Given the description of an element on the screen output the (x, y) to click on. 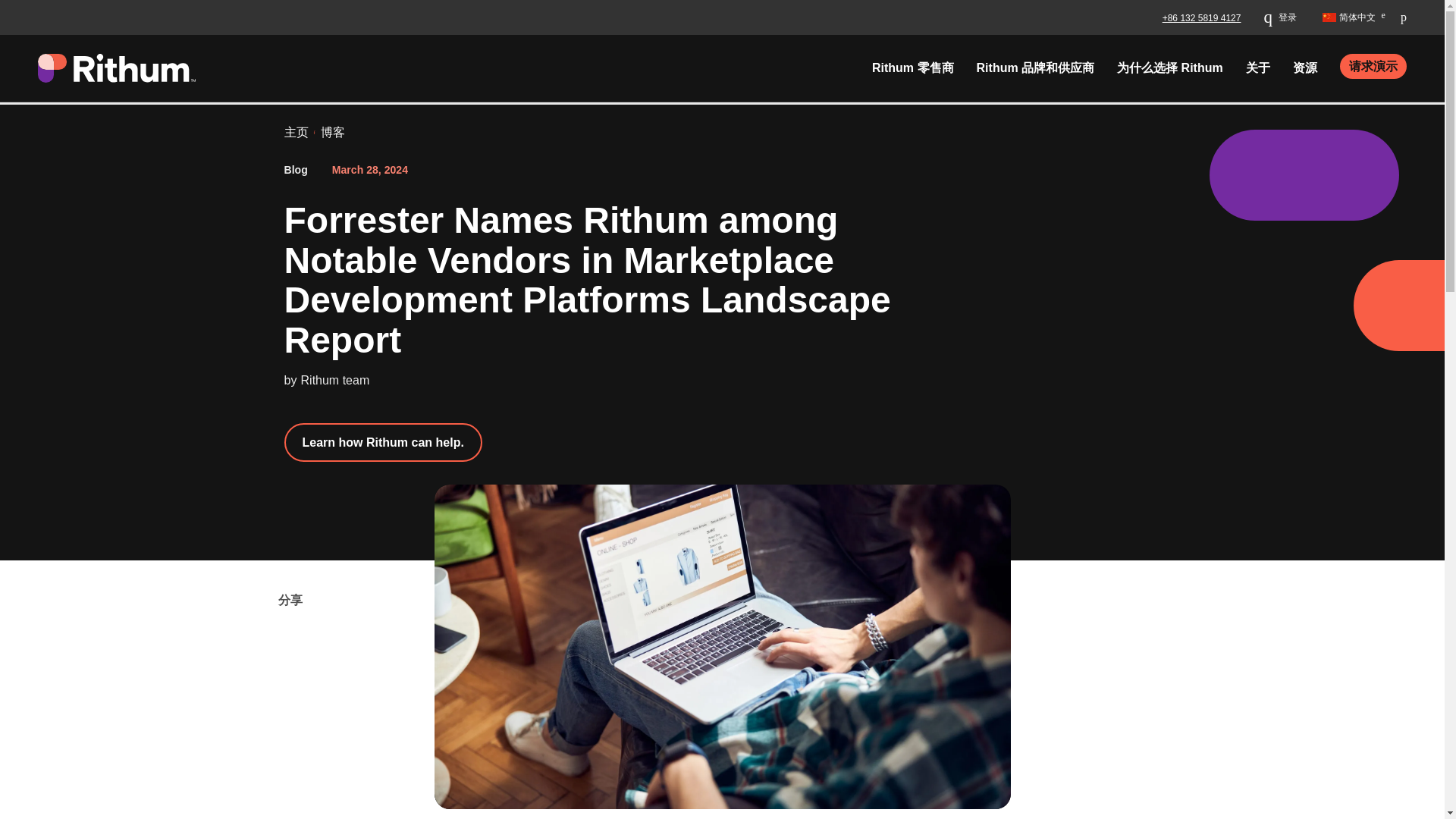
Go to Rithum. (295, 132)
Rithum team (335, 379)
